Given the description of an element on the screen output the (x, y) to click on. 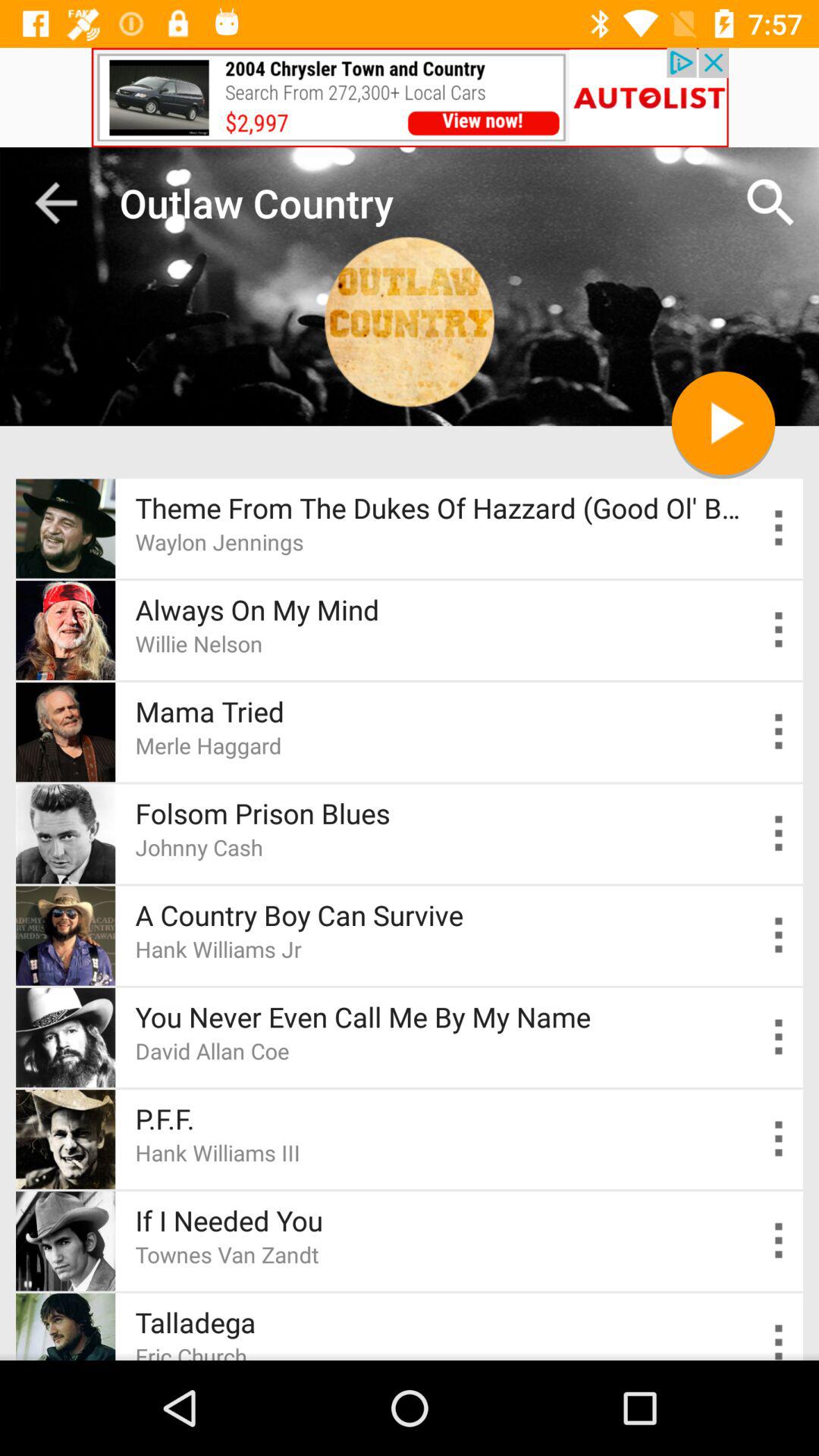
stop button (723, 422)
